Given the description of an element on the screen output the (x, y) to click on. 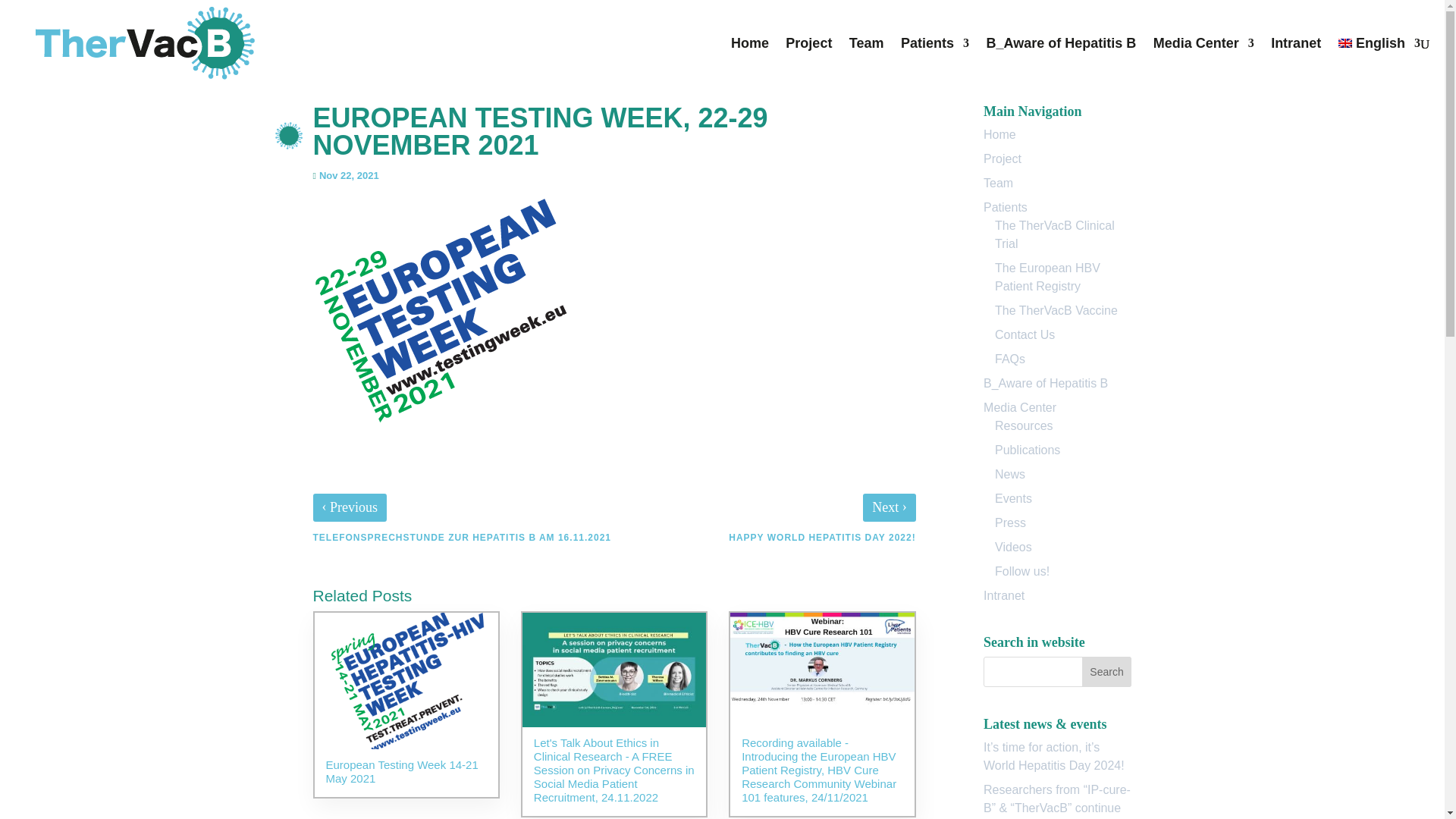
Team (998, 182)
Project (1003, 158)
Media Center (1203, 61)
Home (1000, 133)
Patients (935, 61)
European Testing Week 14-21 May 2021 (406, 704)
Intranet (1295, 61)
Search (1106, 671)
English (1379, 61)
English (1379, 61)
Project (808, 61)
